Given the description of an element on the screen output the (x, y) to click on. 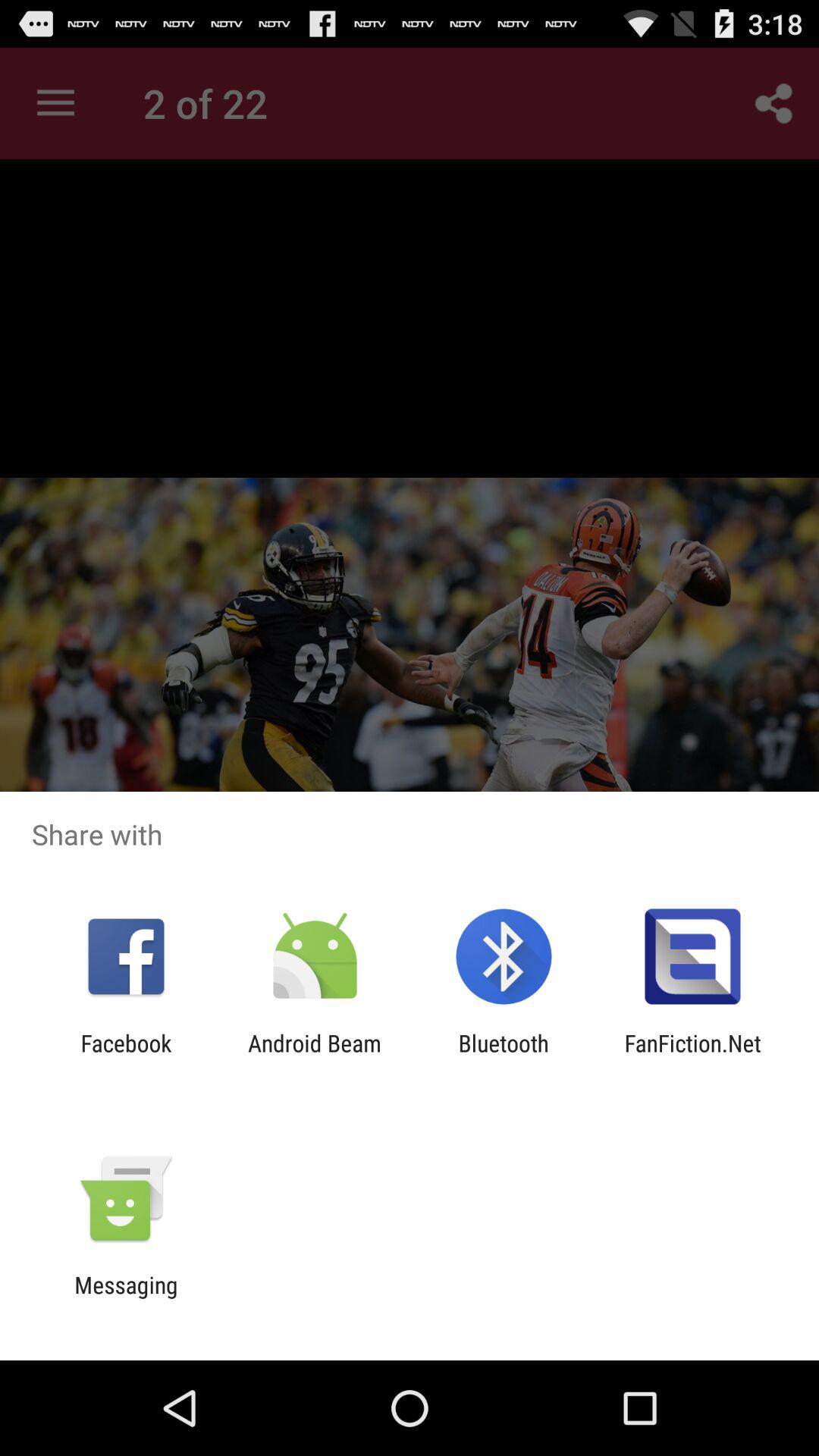
choose the app to the left of android beam item (125, 1056)
